Given the description of an element on the screen output the (x, y) to click on. 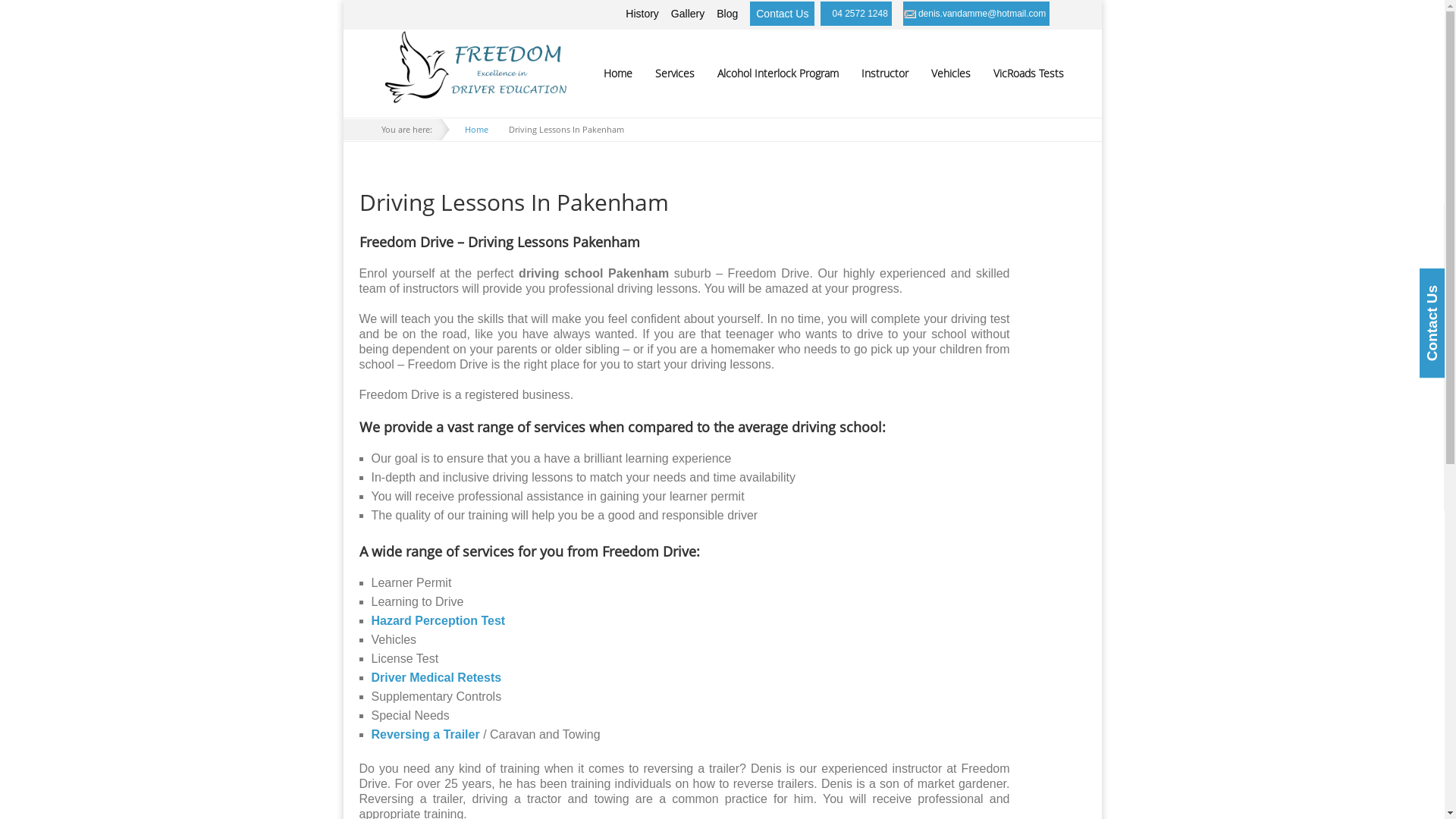
Hazard Perception Test Element type: text (438, 620)
Contact Us Element type: text (781, 13)
Services Element type: text (674, 73)
History Element type: text (641, 13)
Gallery Element type: text (687, 13)
Alcohol Interlock Program Element type: text (777, 73)
Home Element type: text (617, 73)
Blog Element type: text (726, 13)
denis.vandamme@hotmail.com Element type: text (981, 13)
Driver Medical Retests Element type: text (436, 677)
Home Element type: text (475, 129)
VicRoads Tests Element type: text (1022, 73)
Vehicles Element type: text (950, 73)
Reversing a Trailer Element type: text (425, 734)
Instructor Element type: text (884, 73)
04 2572 1248 Element type: text (859, 13)
